Given the description of an element on the screen output the (x, y) to click on. 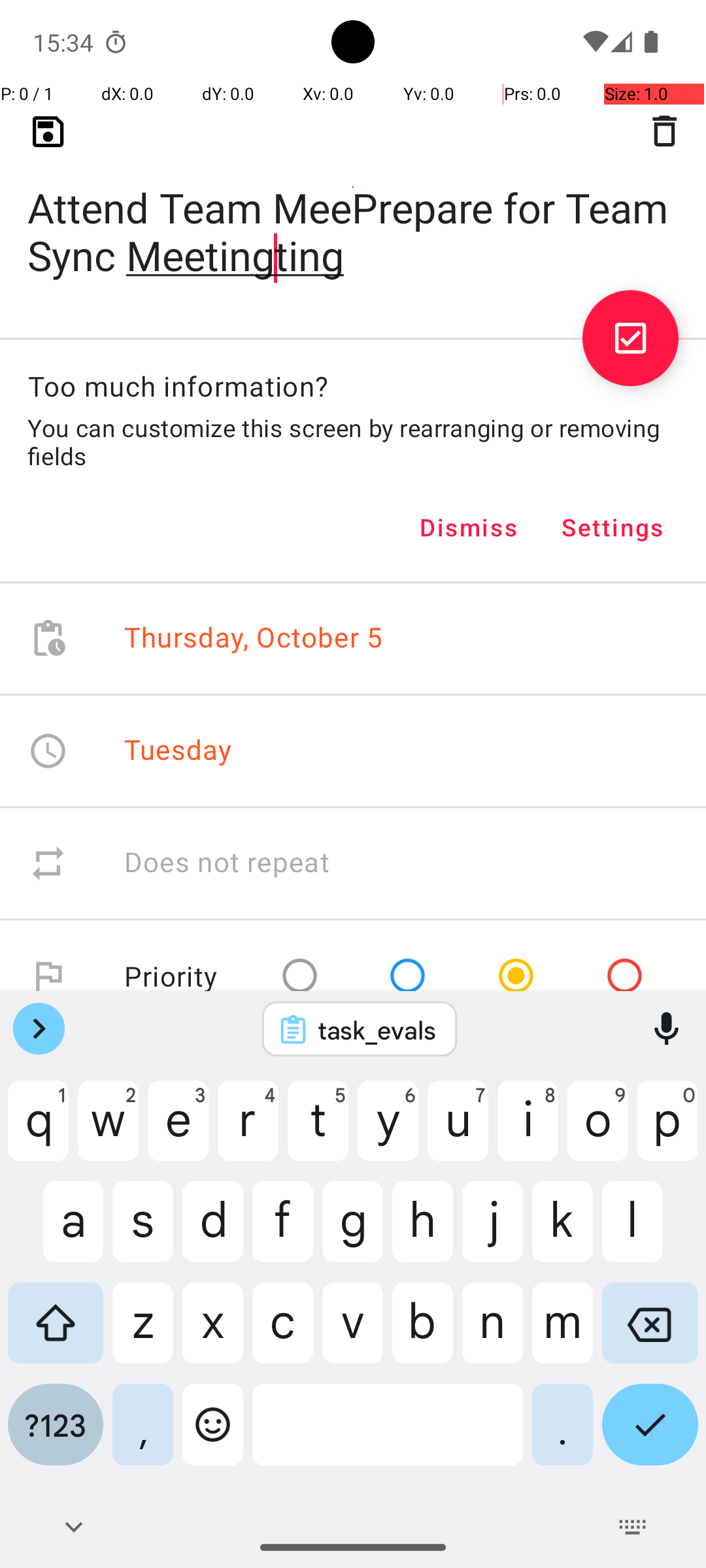
Attend Team MeePrepare for Team Sync Meetingting Element type: android.widget.EditText (353, 210)
Thursday, October 5 Element type: android.widget.TextView (253, 638)
